Given the description of an element on the screen output the (x, y) to click on. 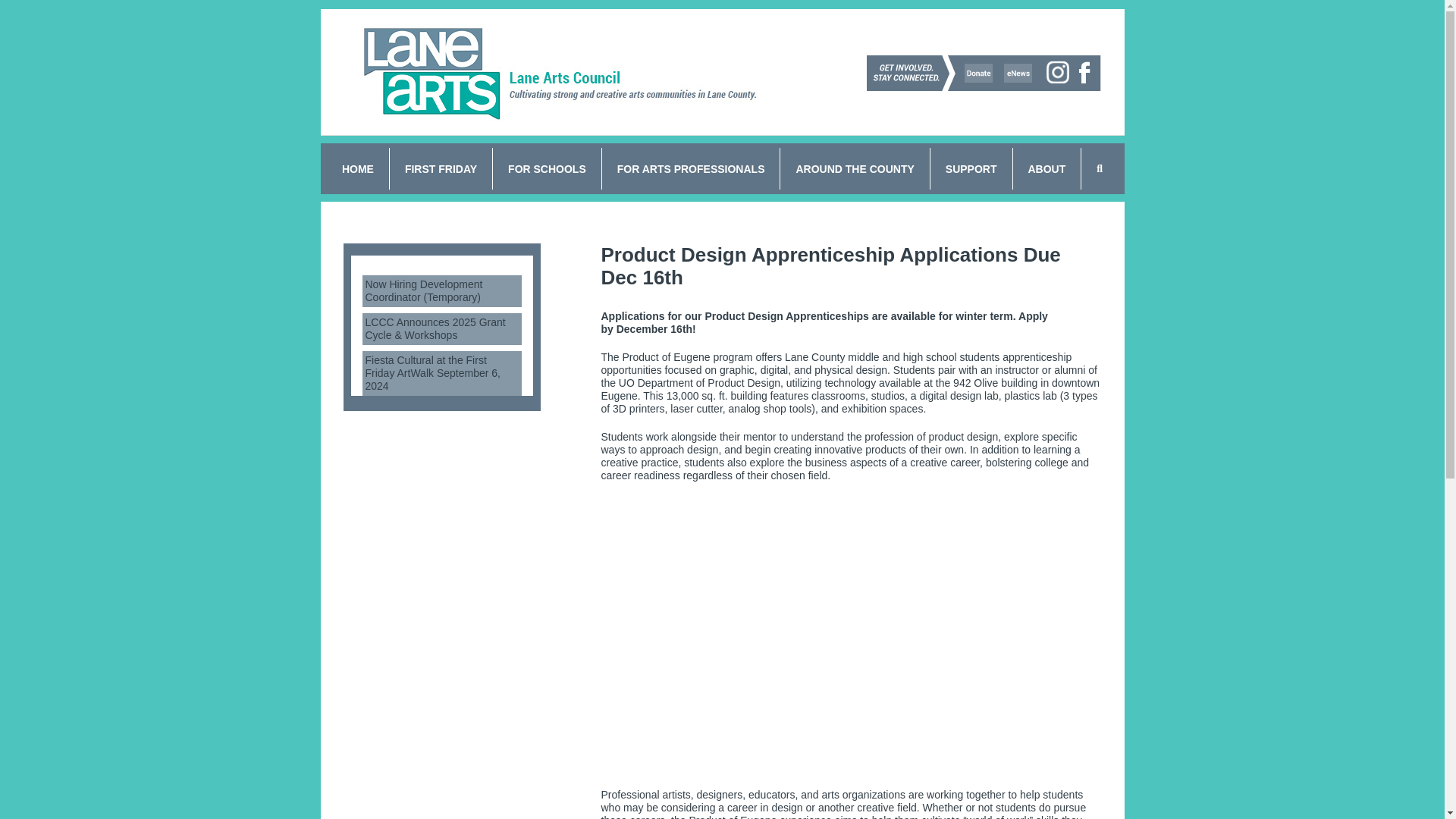
SUPPORT (970, 168)
AROUND THE COUNTY (854, 168)
HOME (357, 168)
FIRST FRIDAY (440, 168)
FOR SCHOOLS (547, 168)
FOR ARTS PROFESSIONALS (691, 168)
